Given the description of an element on the screen output the (x, y) to click on. 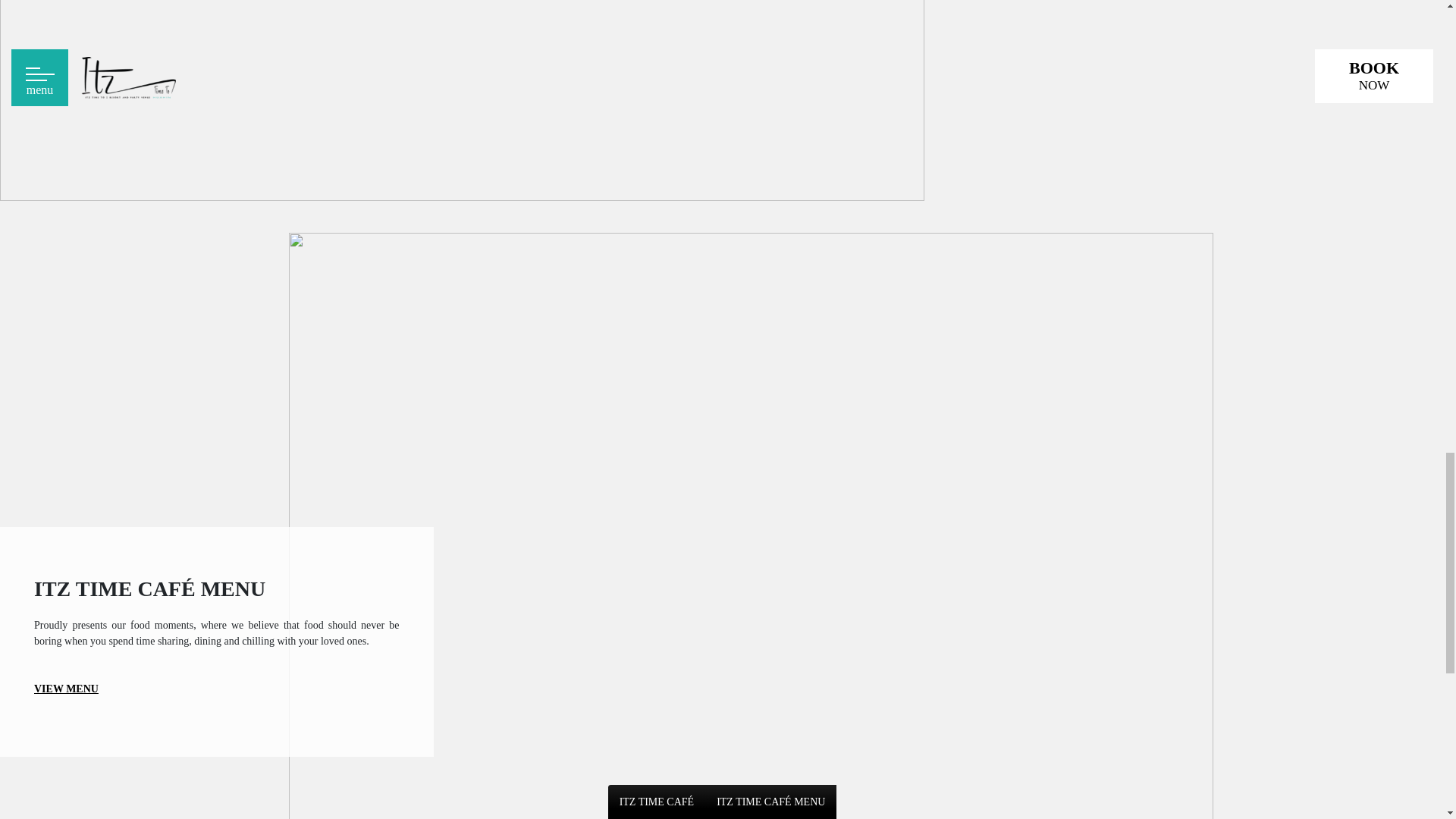
VIEW MENU (66, 688)
